Given the description of an element on the screen output the (x, y) to click on. 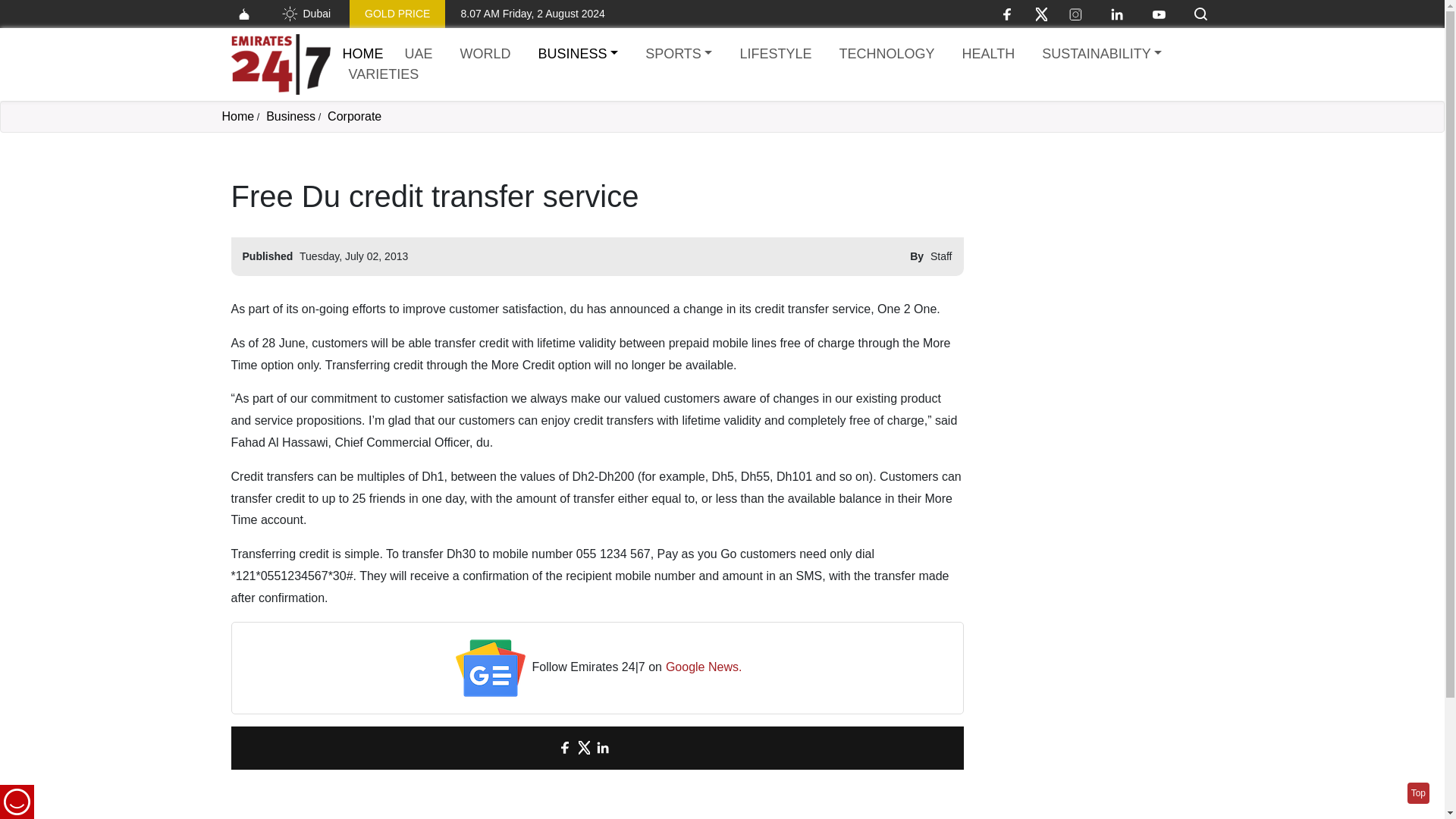
Dubai (305, 13)
SPORTS (678, 54)
Home (280, 64)
Google News. (703, 667)
TECHNOLOGY (886, 54)
GOLD PRICE (397, 13)
Go to top (1418, 792)
BUSINESS (578, 54)
Home (363, 53)
LIFESTYLE (774, 54)
